Given the description of an element on the screen output the (x, y) to click on. 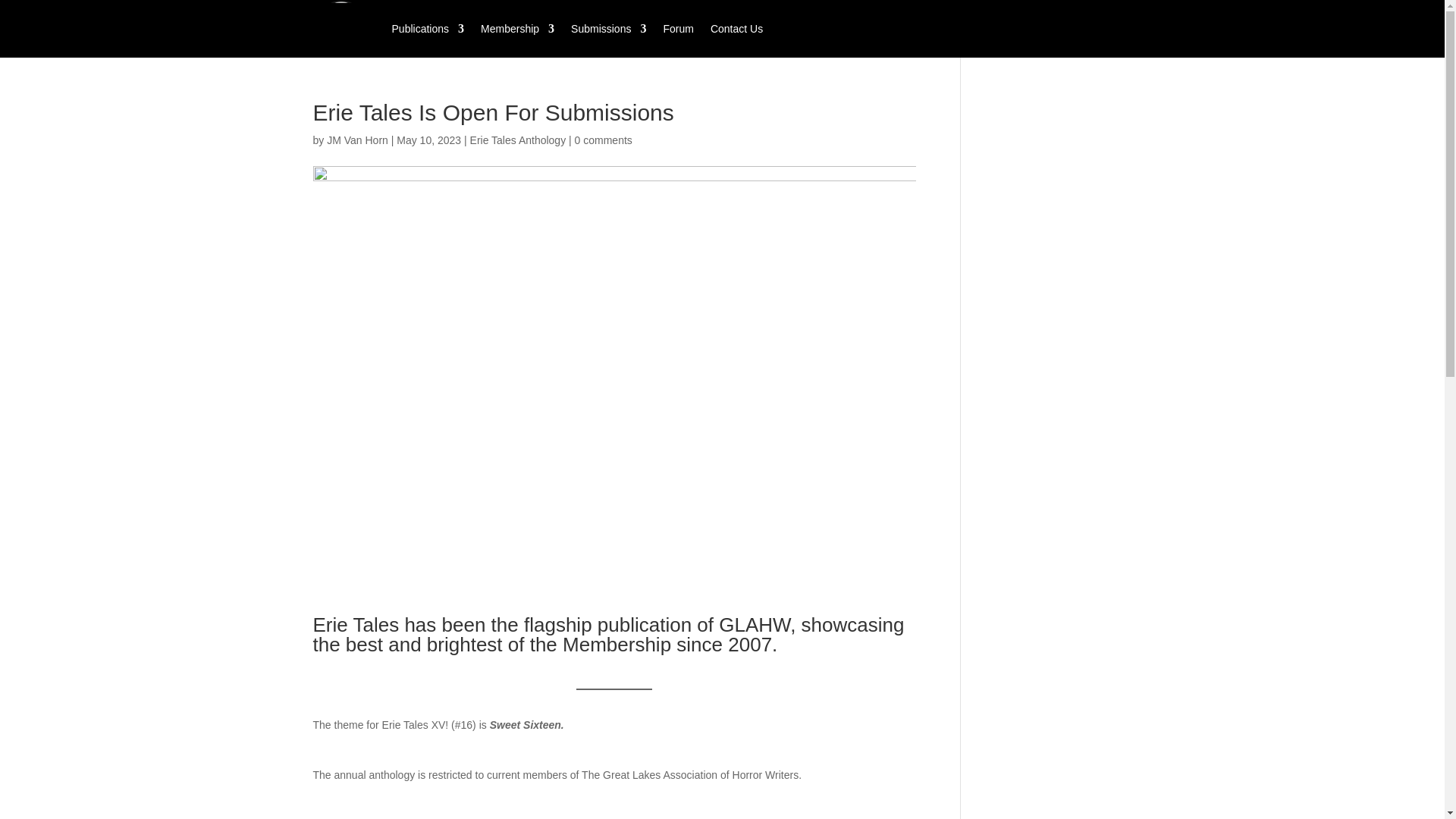
Publications (427, 28)
Membership (517, 28)
Erie Tales Anthology (518, 140)
0 comments (603, 140)
JM Van Horn (357, 140)
Submissions (608, 28)
Contact Us (736, 28)
Posts by JM Van Horn (357, 140)
